Given the description of an element on the screen output the (x, y) to click on. 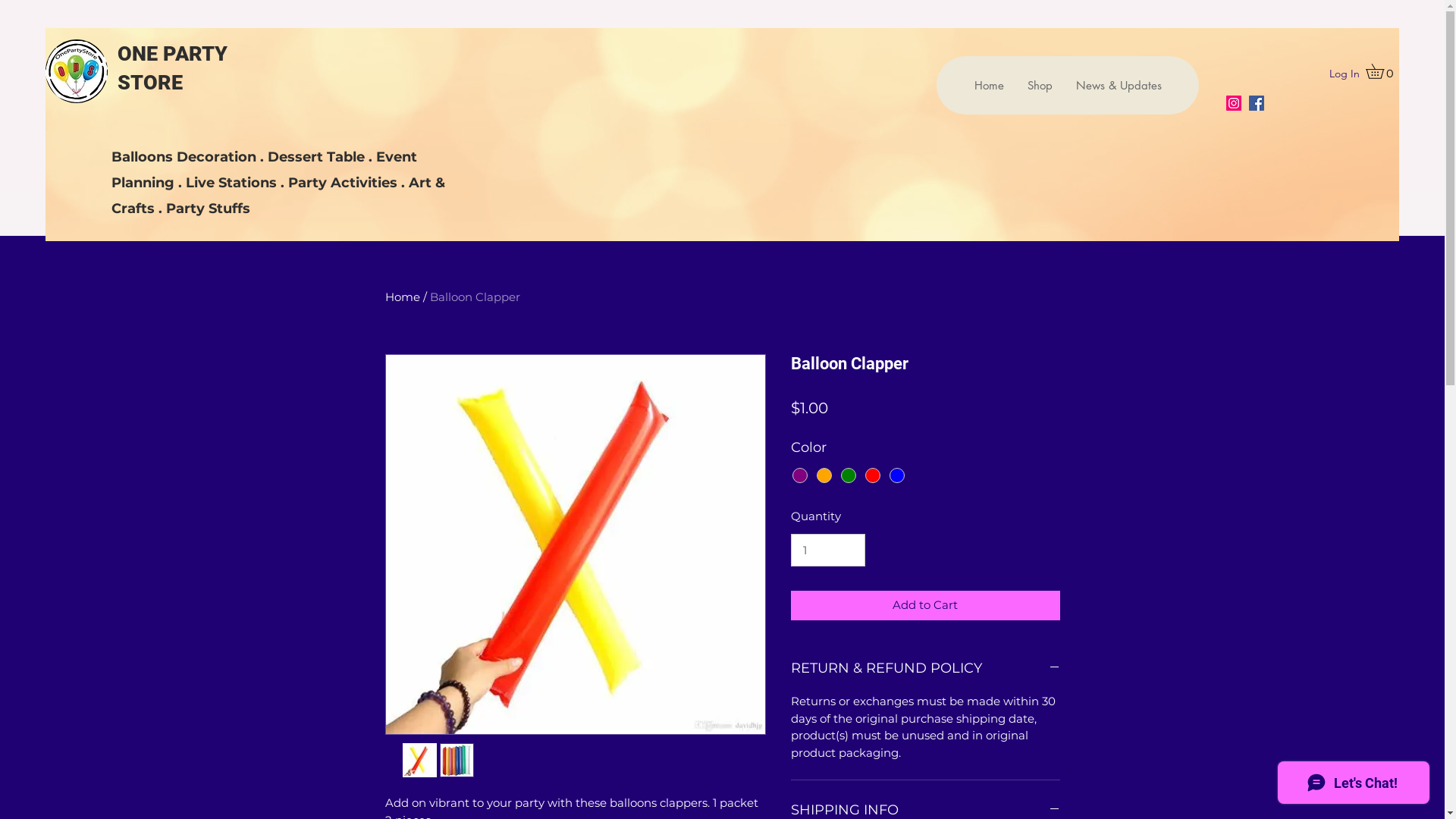
Home Element type: text (402, 296)
ONE PARTY STORE Element type: text (172, 67)
RETURN & REFUND POLICY Element type: text (924, 668)
Home Element type: text (988, 85)
Balloon Clapper Element type: text (474, 296)
Log In Element type: text (1344, 73)
0 Element type: text (1381, 70)
News & Updates Element type: text (1118, 85)
Shop Element type: text (1039, 85)
Add to Cart Element type: text (924, 605)
